Given the description of an element on the screen output the (x, y) to click on. 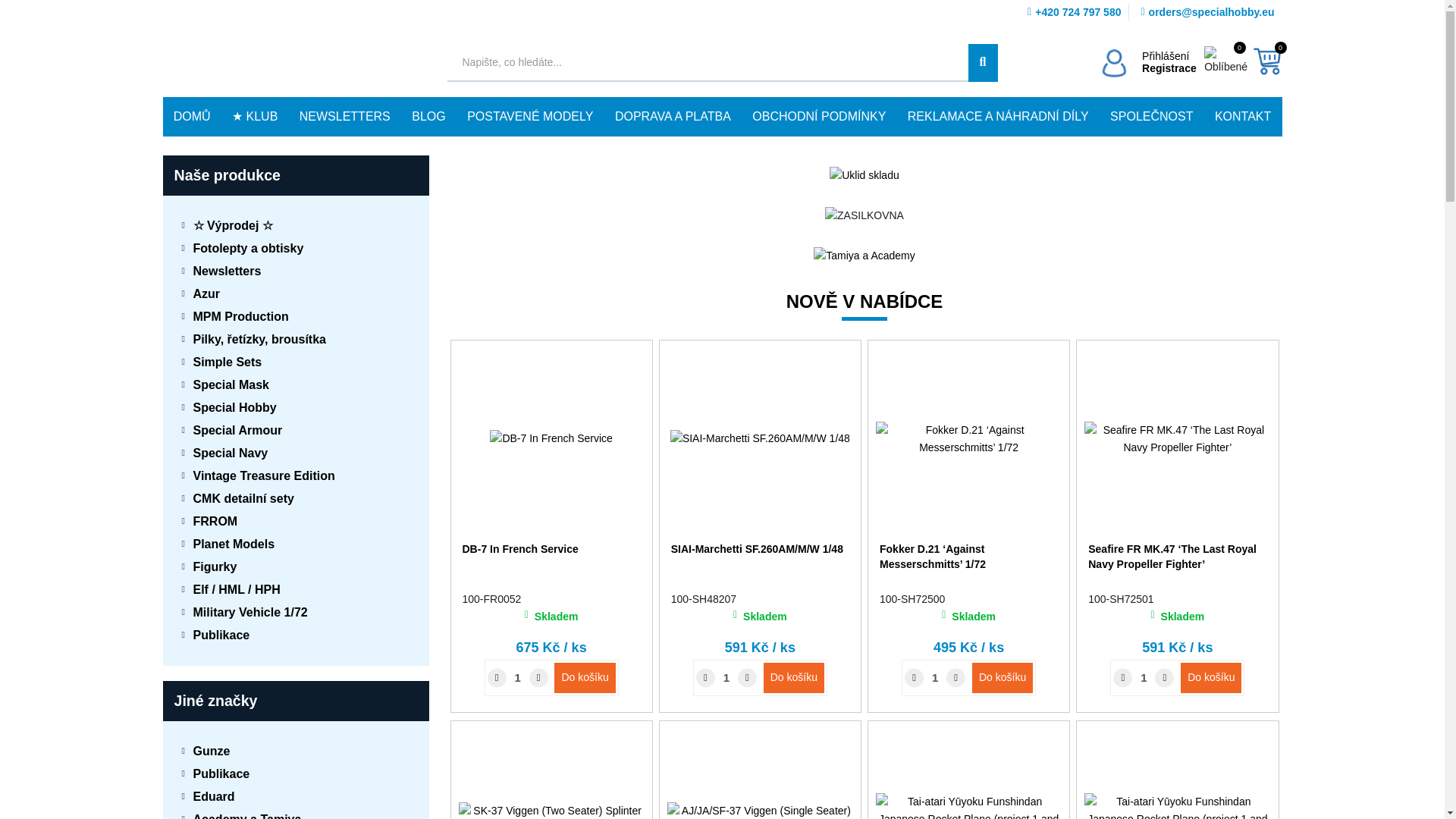
0 (1265, 60)
Fotolepty a obtisky (296, 248)
KONTAKT (1243, 116)
1 (517, 677)
0 (1226, 60)
1 (1143, 677)
DOPRAVA A PLATBA (672, 116)
Newsletters (296, 271)
BLOG (429, 116)
NEWSLETTERS (344, 116)
1 (726, 677)
1 (934, 677)
